Given the description of an element on the screen output the (x, y) to click on. 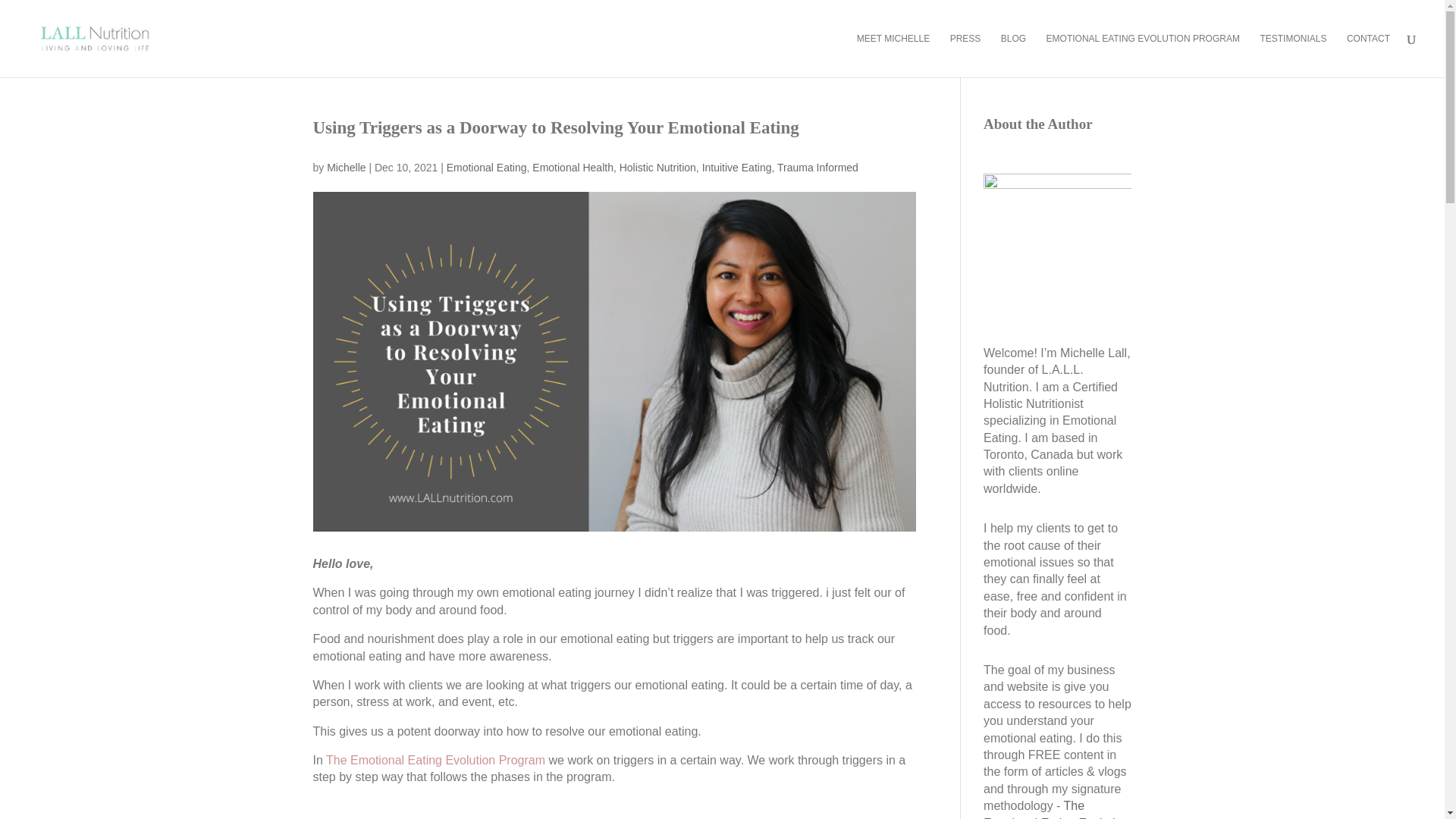
Emotional Health (572, 167)
Emotional Eating (486, 167)
EMOTIONAL EATING EVOLUTION PROGRAM (1143, 54)
CONTACT (1368, 54)
Trauma Informed (818, 167)
MEET MICHELLE (893, 54)
Intuitive Eating (736, 167)
Michelle (345, 167)
The Emotional Eating Evolution Program (1056, 809)
Posts by Michelle (345, 167)
